Given the description of an element on the screen output the (x, y) to click on. 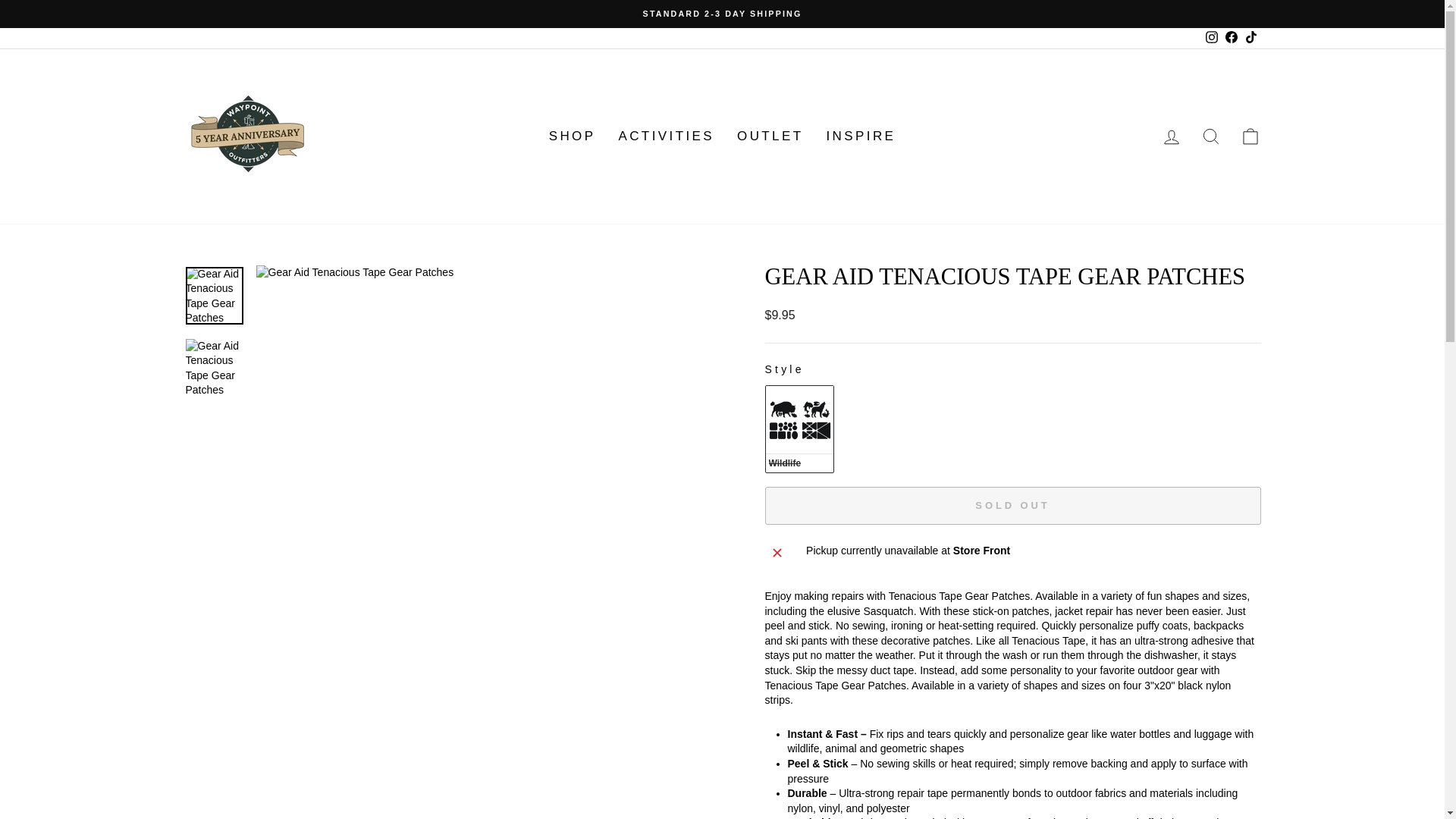
Waypoint Outfitters on Facebook (1230, 37)
Waypoint Outfitters on TikTok (1250, 37)
Waypoint Outfitters on Instagram (1211, 37)
